Given the description of an element on the screen output the (x, y) to click on. 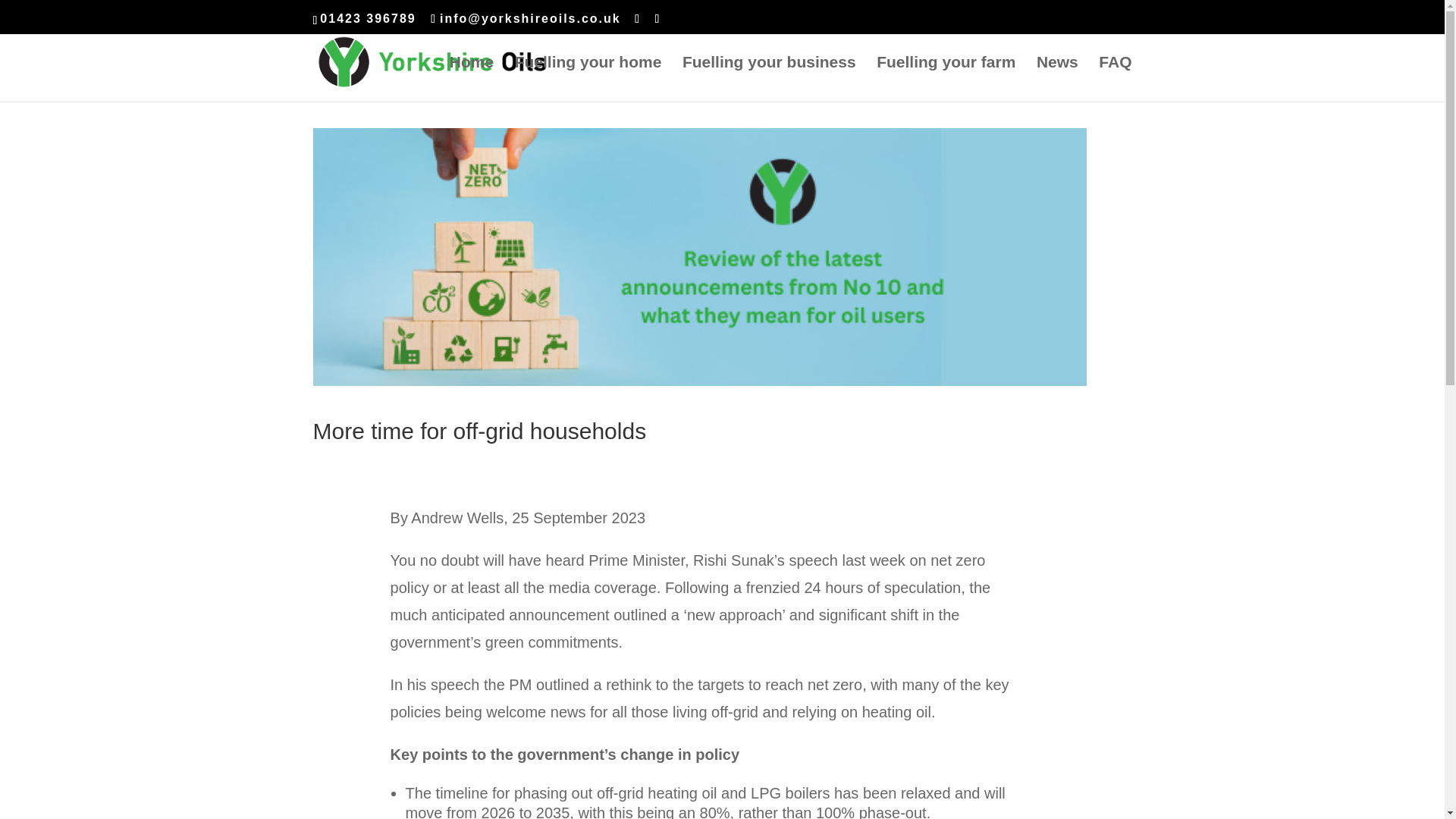
News (1057, 78)
Fuelling your business (769, 78)
Home (471, 78)
Fuelling your home (588, 78)
More time for off-grid households (479, 430)
Fuelling your farm (945, 78)
